Given the description of an element on the screen output the (x, y) to click on. 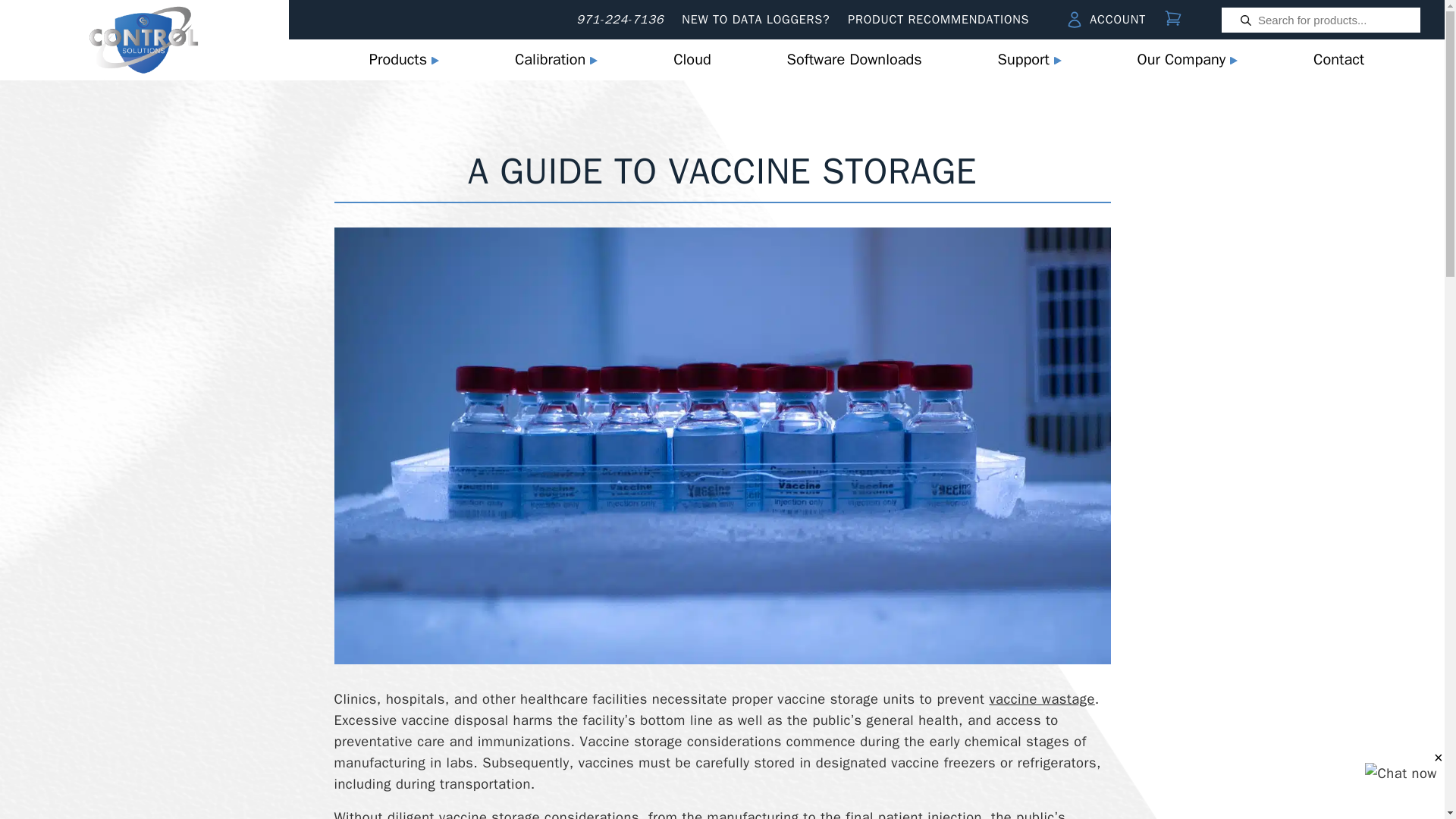
Products (403, 59)
ACCOUNT (1105, 19)
971-224-7136 (619, 19)
PRODUCT RECOMMENDATIONS (938, 19)
Control Solutions logo (144, 39)
NEW TO DATA LOGGERS? (755, 19)
